Given the description of an element on the screen output the (x, y) to click on. 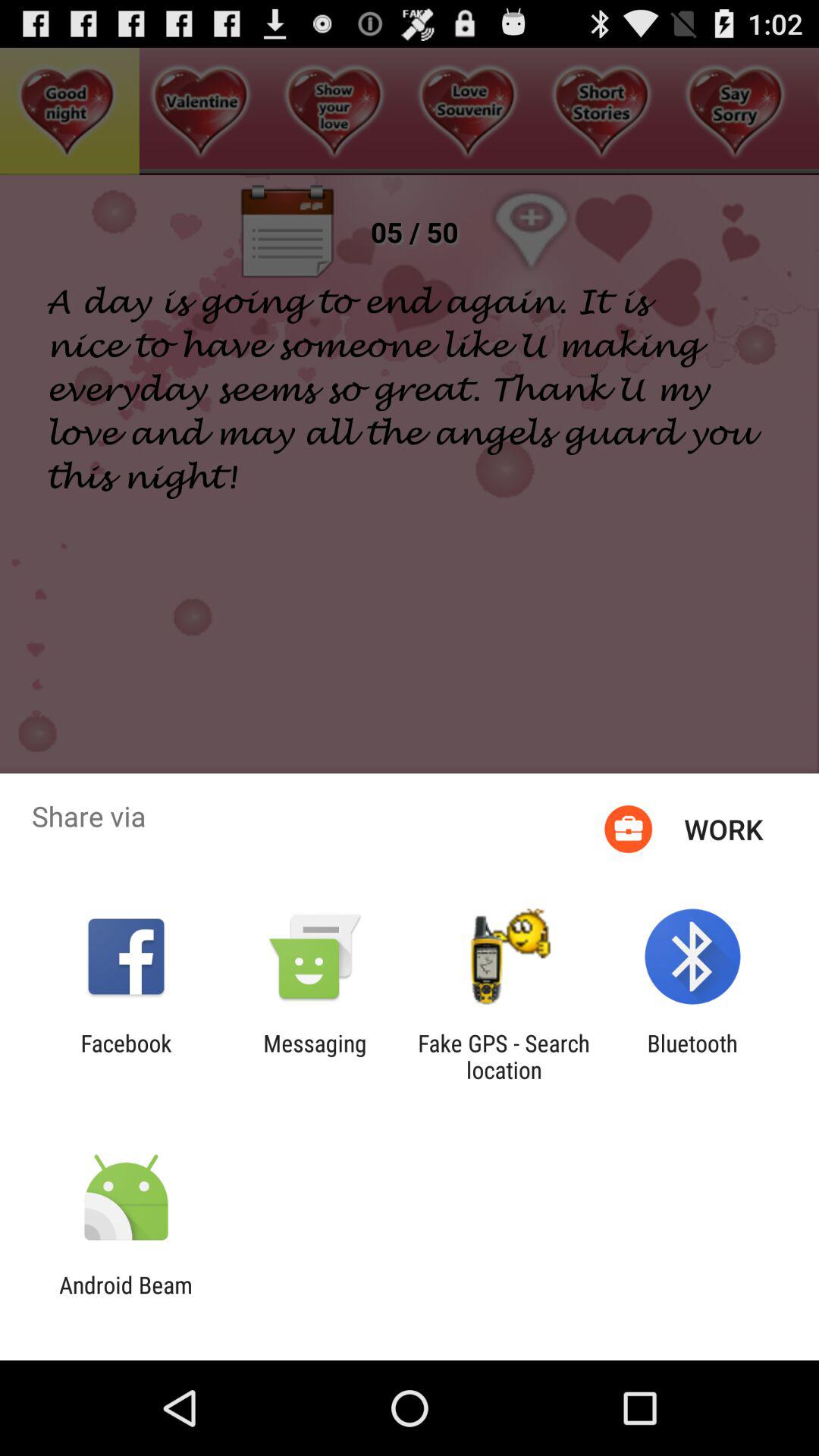
turn on item to the right of the messaging app (503, 1056)
